Given the description of an element on the screen output the (x, y) to click on. 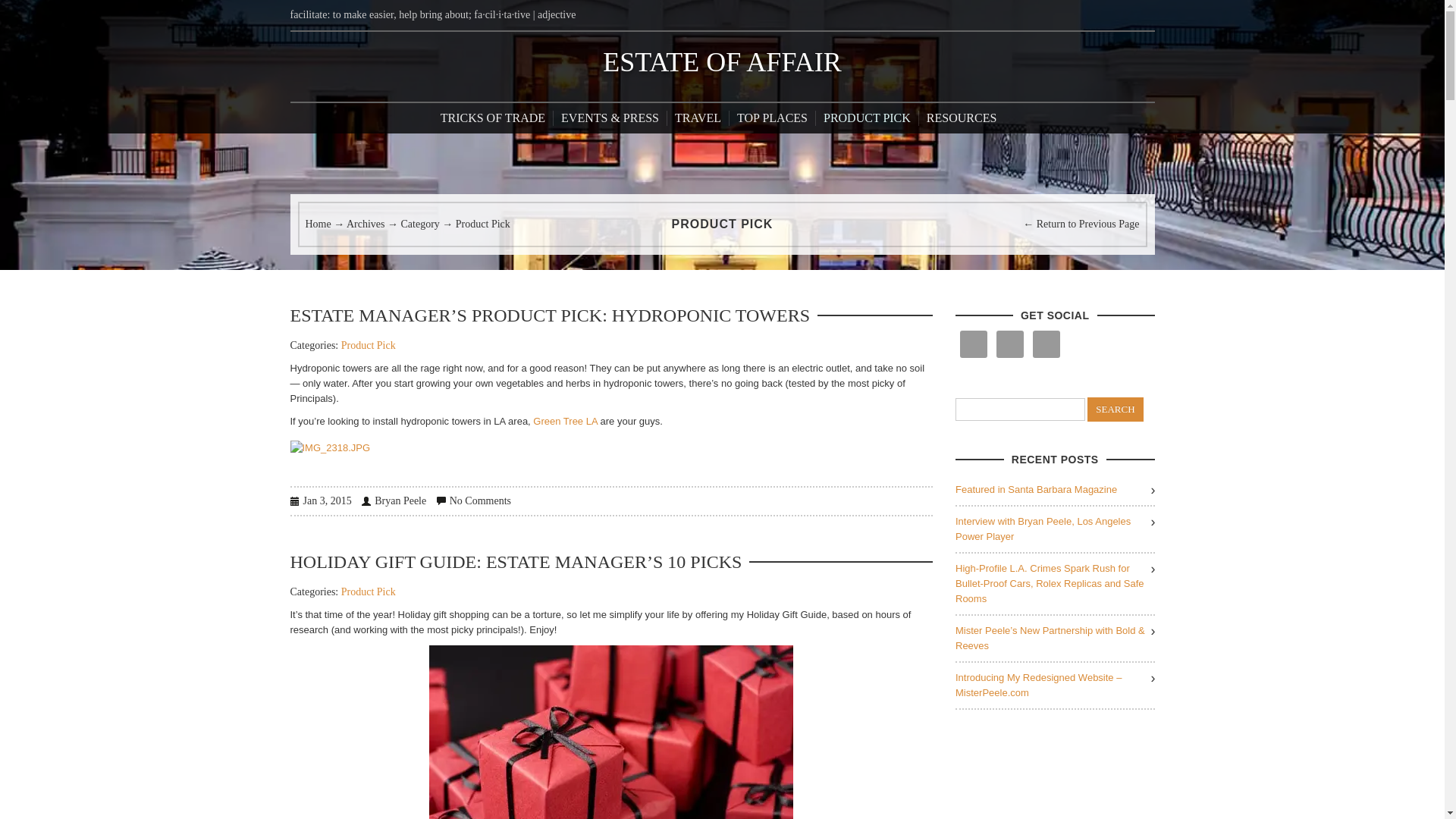
Product Pick (368, 591)
TRAVEL (697, 118)
Product Pick (368, 345)
ESTATE OF AFFAIR (721, 61)
View all posts in Product Pick (368, 345)
Jan 3, 2015 (319, 500)
No Comments (473, 500)
View all posts in Product Pick (368, 591)
TOP PLACES (772, 118)
Green Tree LA (564, 420)
PRODUCT PICK (866, 118)
Bryan Peele (393, 500)
Search (1114, 409)
RESOURCES (961, 118)
TRICKS OF TRADE (497, 118)
